Given the description of an element on the screen output the (x, y) to click on. 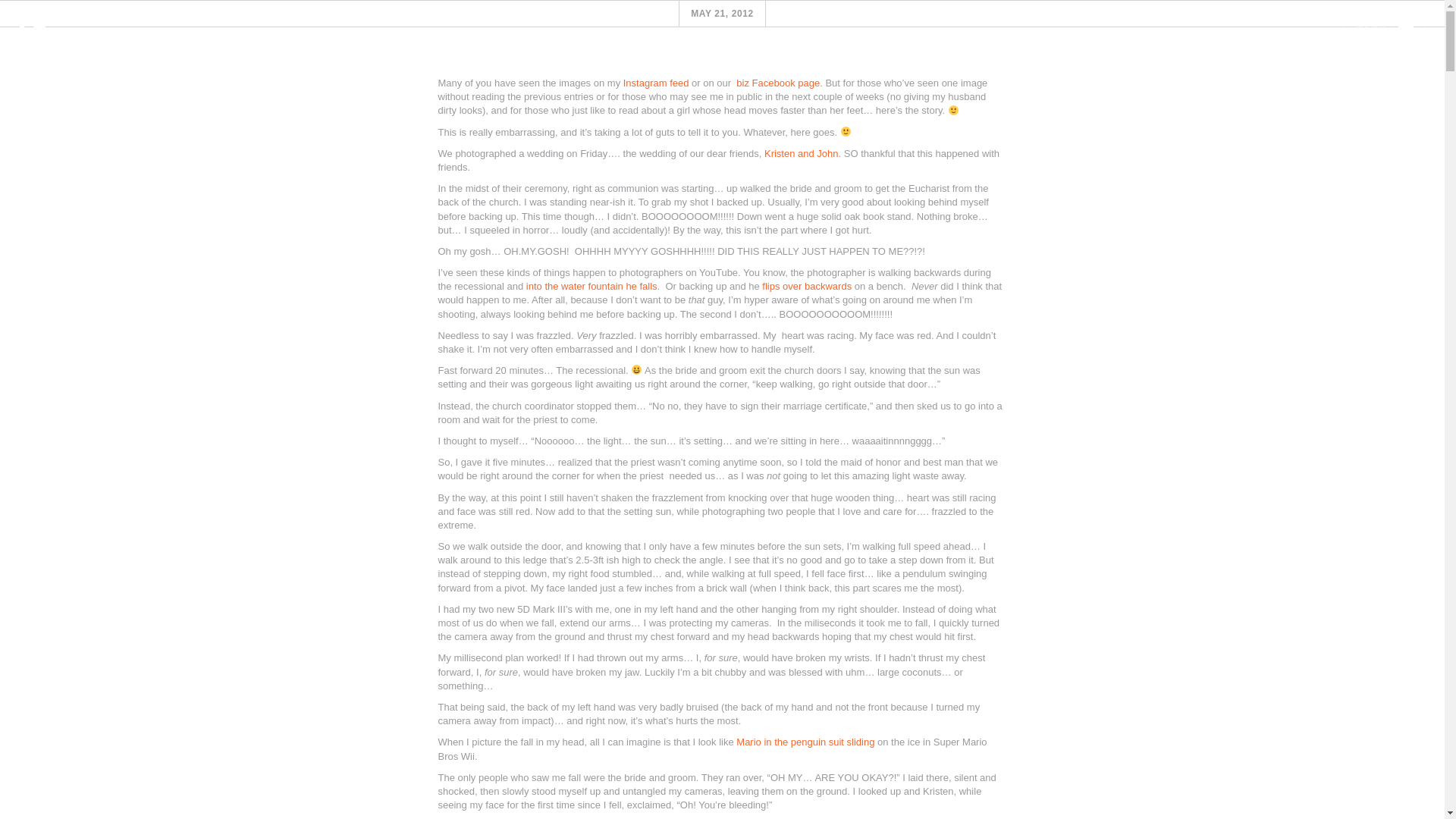
into the water fountain he falls (591, 285)
INFORMATION (706, 66)
INFORMATION (712, 66)
MENU (1384, 27)
PORTFOLIO (813, 66)
flips over backwards (806, 285)
PORTFOLIO (800, 66)
biz Facebook page (777, 82)
INFORMATION (720, 66)
Mario in the penguin suit sliding (806, 741)
Kristen and John (801, 153)
Instagram feed (655, 82)
PORTFOLIO (804, 66)
